Given the description of an element on the screen output the (x, y) to click on. 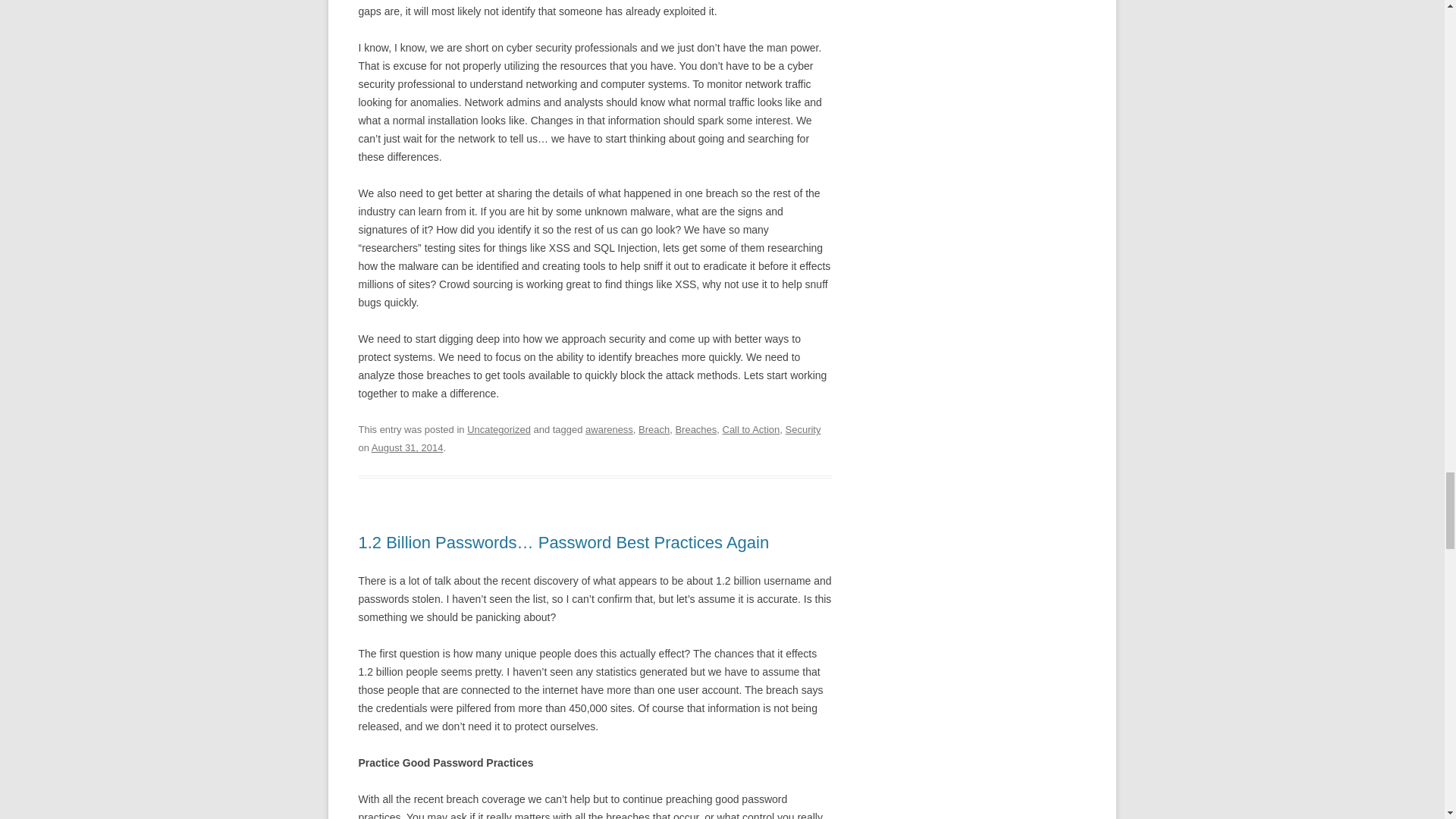
9:49 am (407, 447)
